Given the description of an element on the screen output the (x, y) to click on. 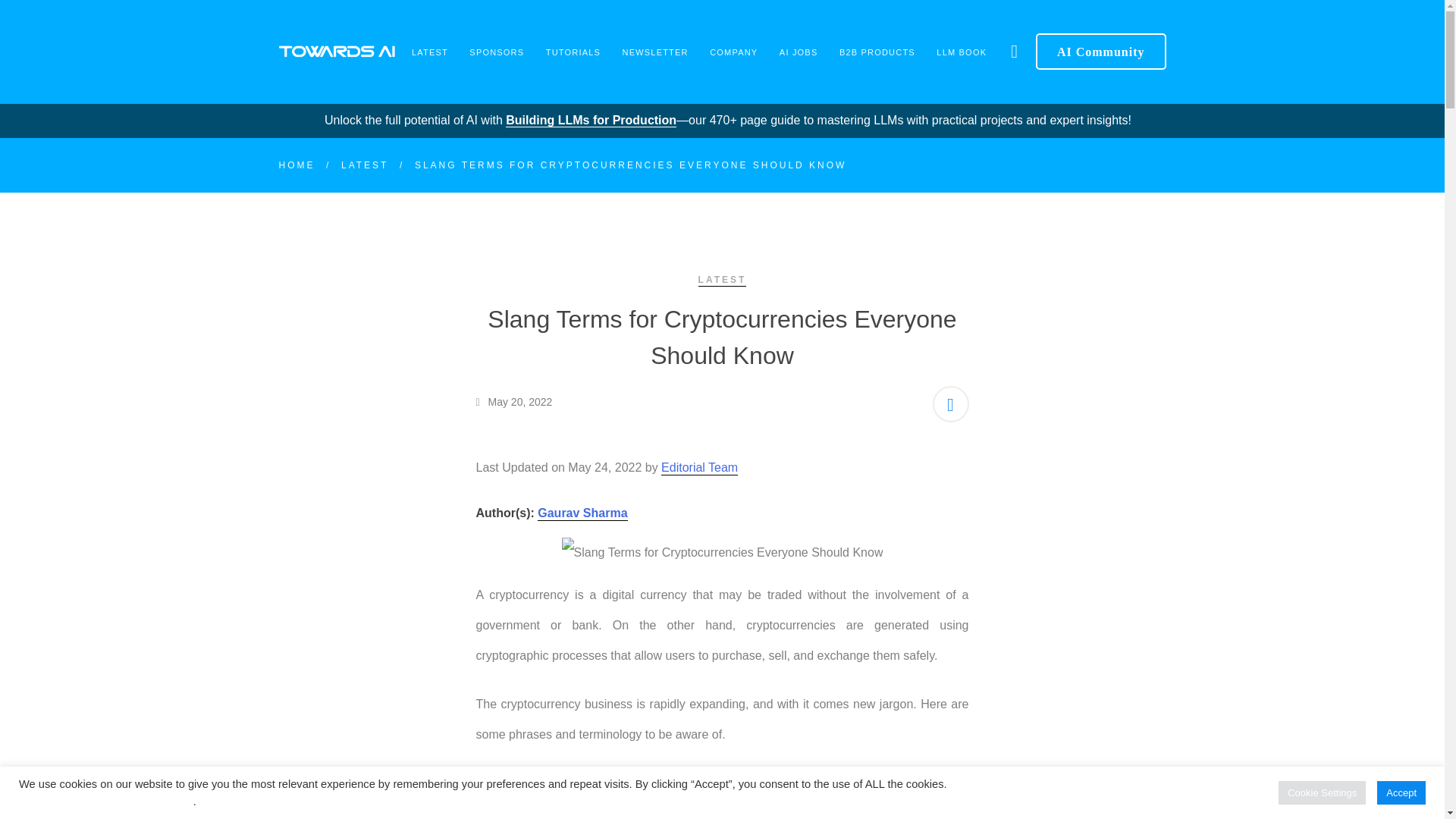
LATEST (430, 52)
